Given the description of an element on the screen output the (x, y) to click on. 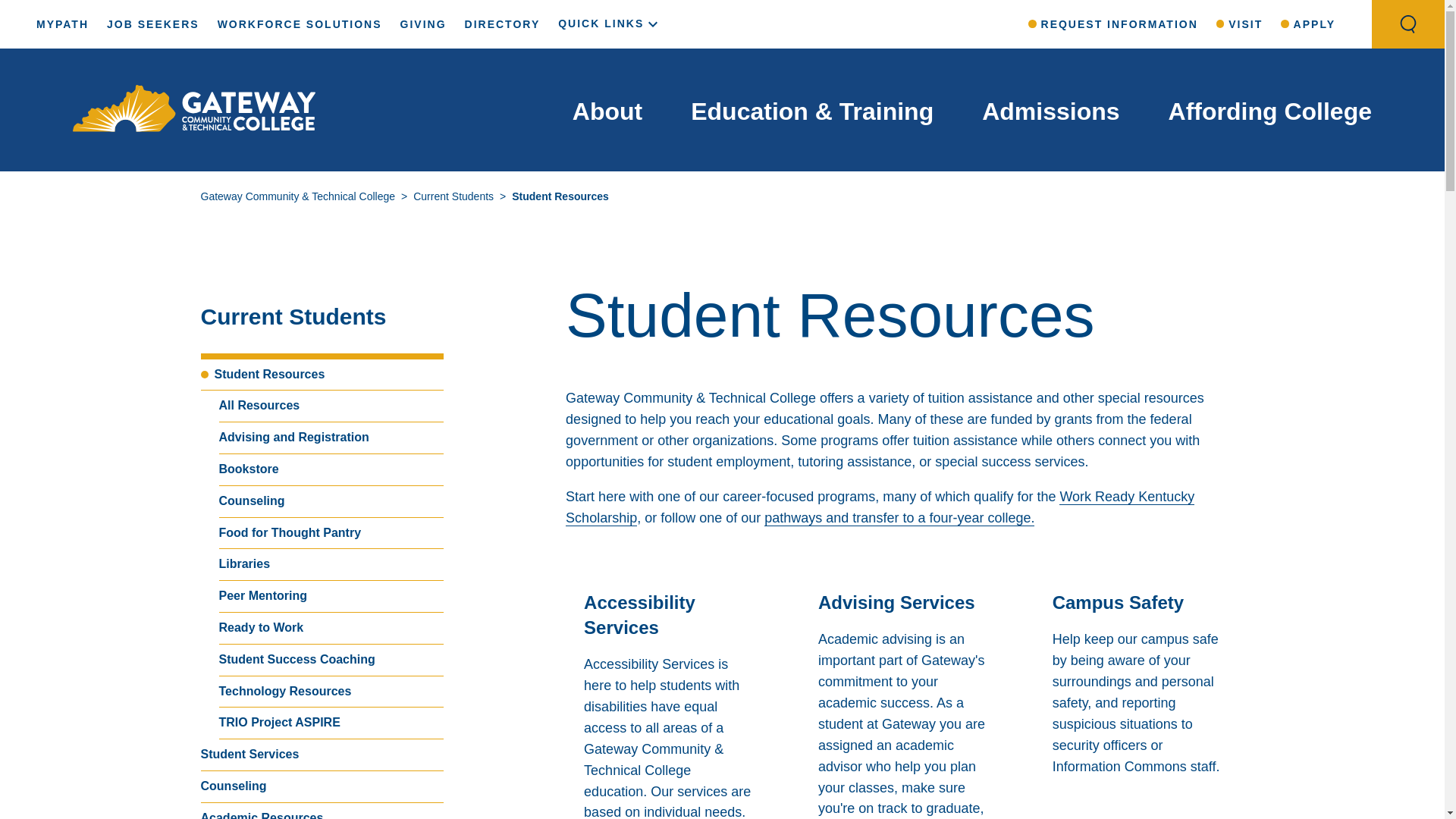
MYPATH (62, 23)
WORKFORCE SOLUTIONS (298, 23)
JOB SEEKERS (152, 23)
GIVING (423, 23)
QUICK LINKS (609, 22)
APPLY (1308, 24)
DIRECTORY (502, 23)
REQUEST INFORMATION (1112, 24)
VISIT (1238, 24)
